Given the description of an element on the screen output the (x, y) to click on. 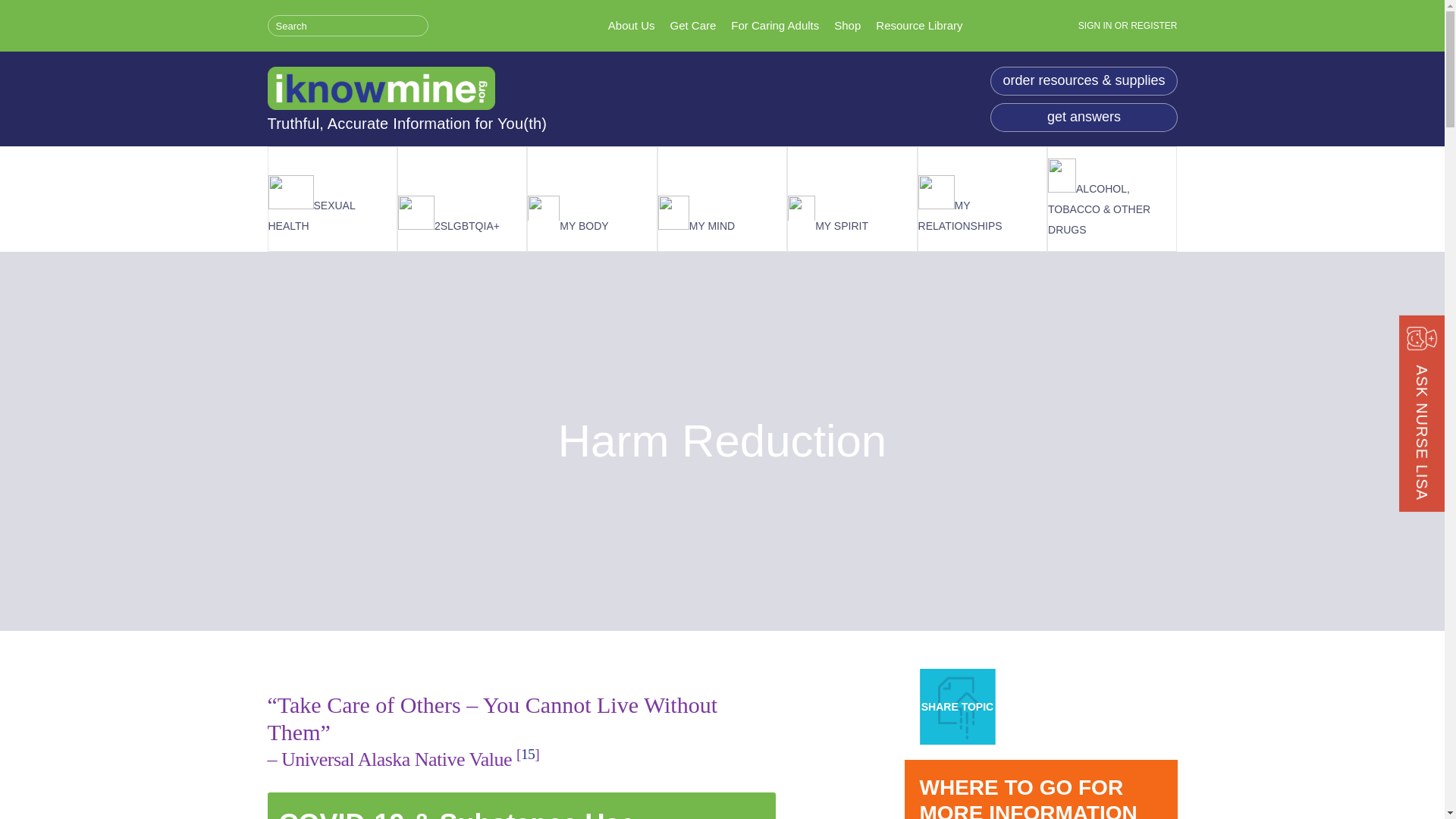
get answers (1083, 116)
SEXUAL HEALTH (331, 205)
SIGN IN OR REGISTER (1127, 25)
MY RELATIONSHIPS (982, 205)
MY SPIRIT (851, 215)
MY BODY (591, 215)
Get Care (692, 24)
Shop (847, 24)
For Caring Adults (774, 24)
MY MIND (722, 215)
